Given the description of an element on the screen output the (x, y) to click on. 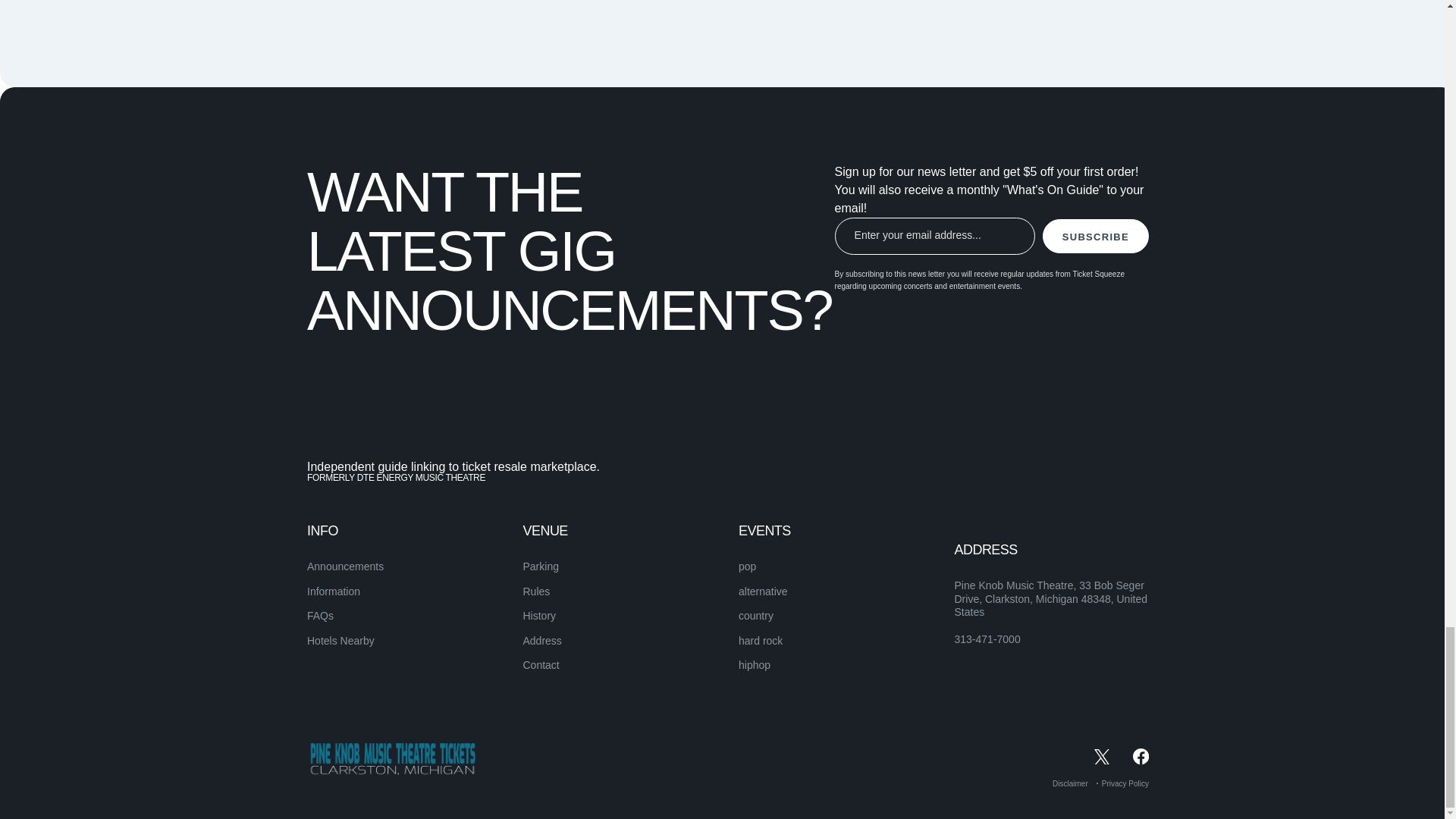
Privacy Policy (1125, 783)
country (755, 615)
Contact (540, 664)
Disclaimer (1069, 783)
hiphop (754, 664)
313-471-7000 (986, 640)
SUBSCRIBE (1095, 236)
Announcements (345, 566)
Information (333, 591)
History (539, 615)
